Given the description of an element on the screen output the (x, y) to click on. 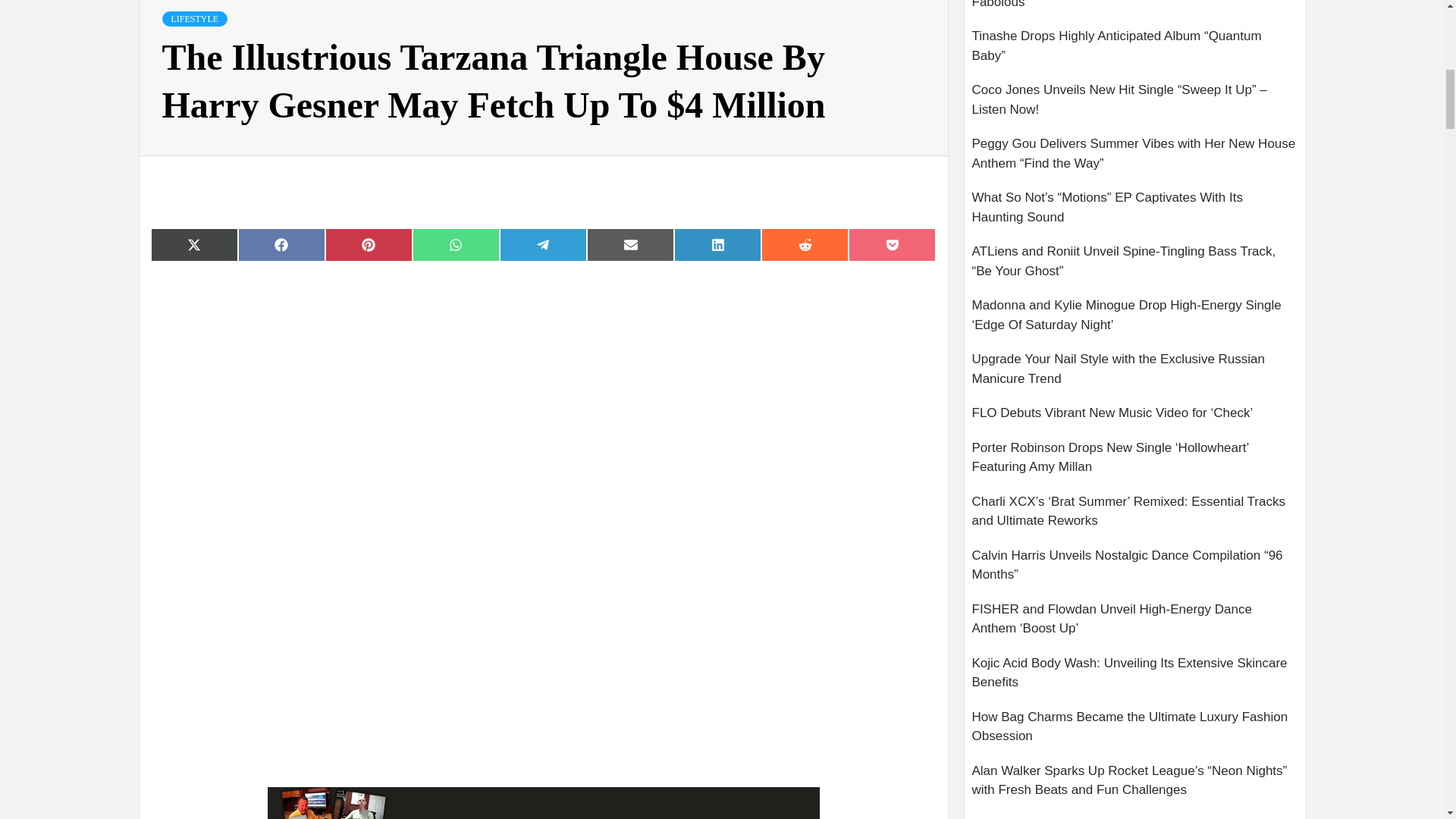
Share on WhatsApp (455, 244)
Share on Telegram (542, 244)
Share on Pinterest (368, 244)
Share on Reddit (804, 244)
Share on Email (630, 244)
Share on Facebook (281, 244)
LIFESTYLE (194, 18)
Share on Pocket (892, 244)
Share on LinkedIn (717, 244)
